Given the description of an element on the screen output the (x, y) to click on. 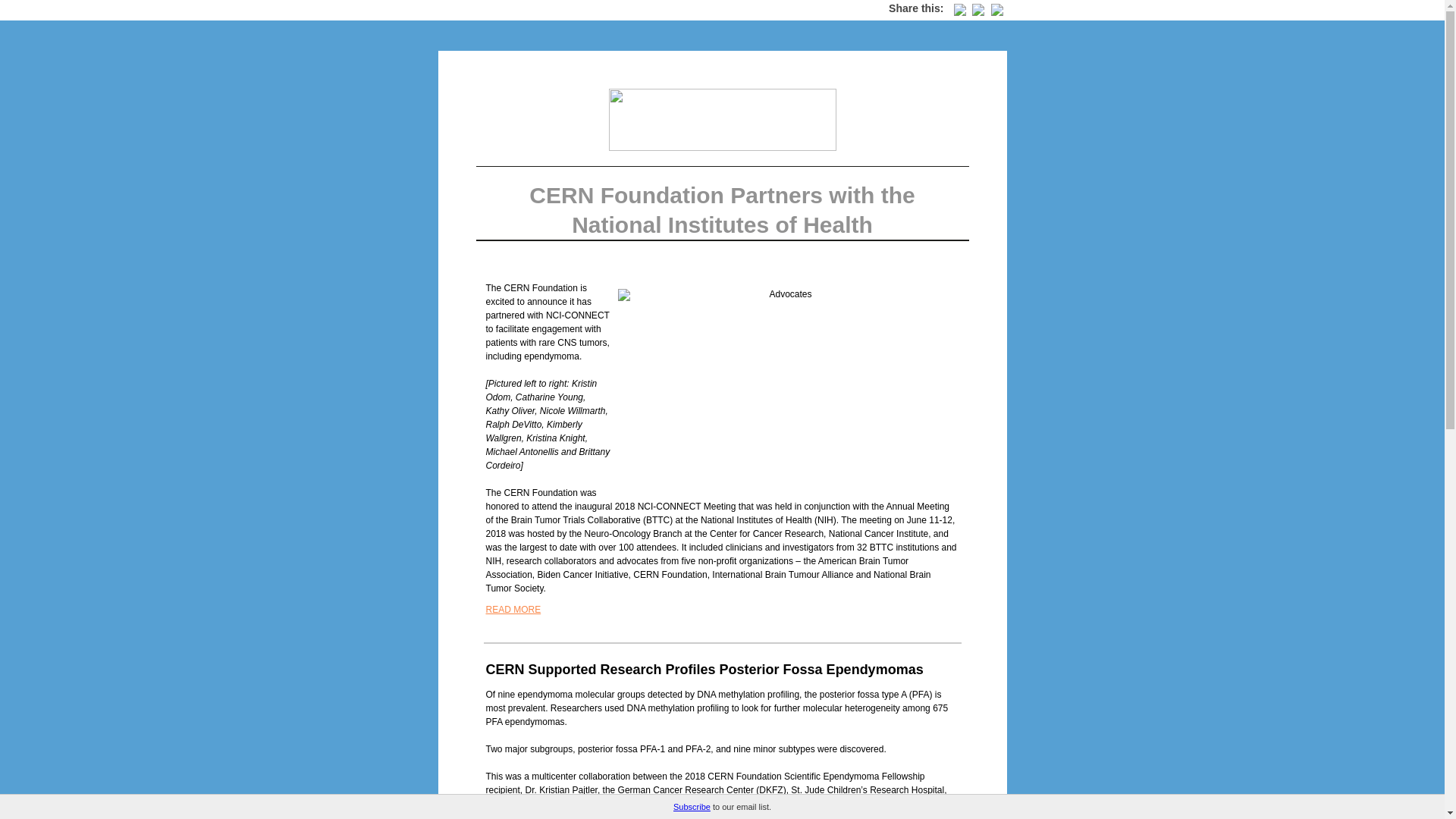
READ MORE (512, 609)
Subscribe (691, 806)
